Given the description of an element on the screen output the (x, y) to click on. 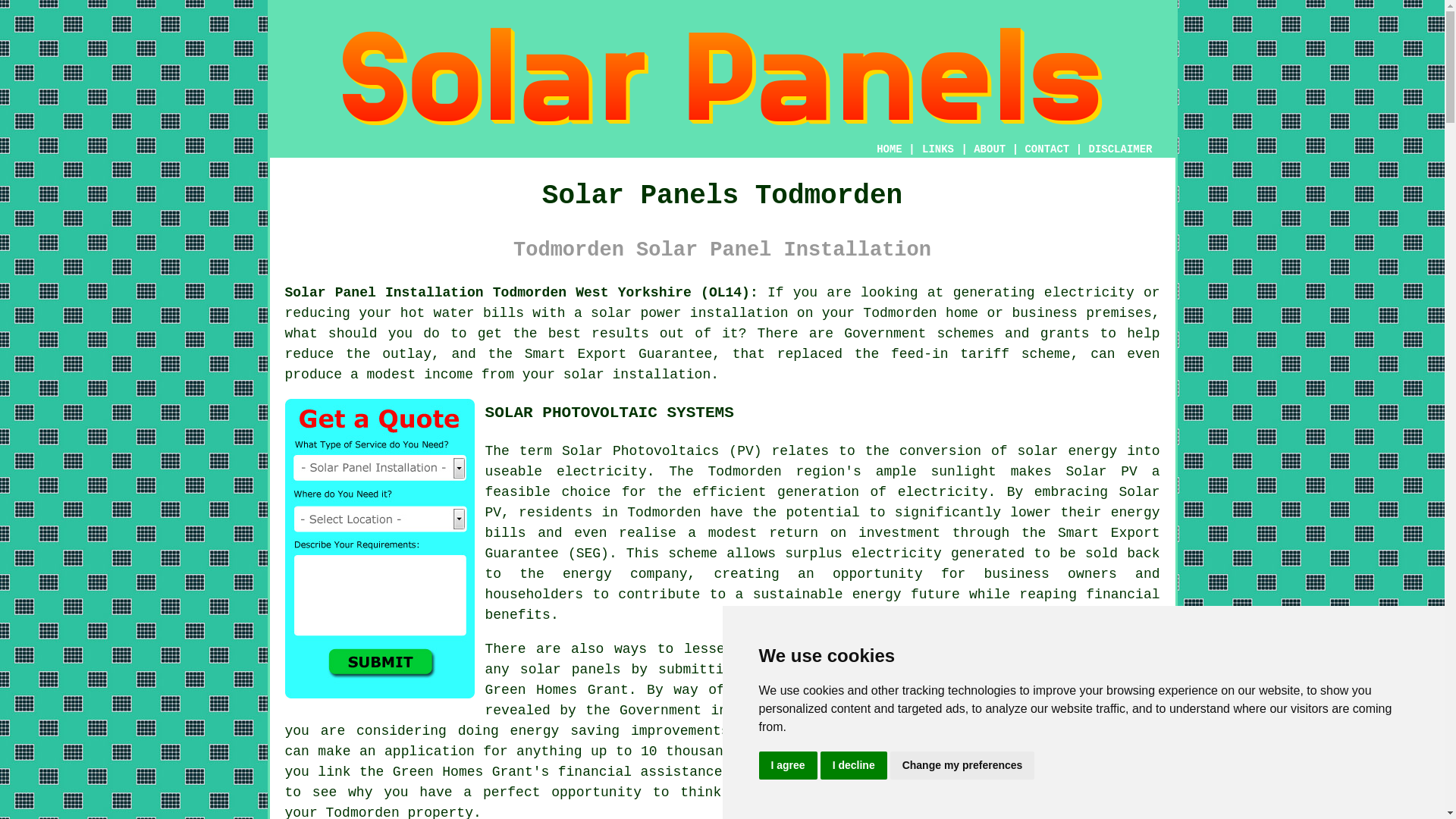
Solar Panel Installer Todmorden (1046, 713)
I decline (853, 765)
I agree (787, 765)
solar energy (1067, 450)
Change my preferences (962, 765)
solar panels (835, 792)
LINKS (938, 149)
HOME (889, 149)
sustainable energy (826, 594)
